Given the description of an element on the screen output the (x, y) to click on. 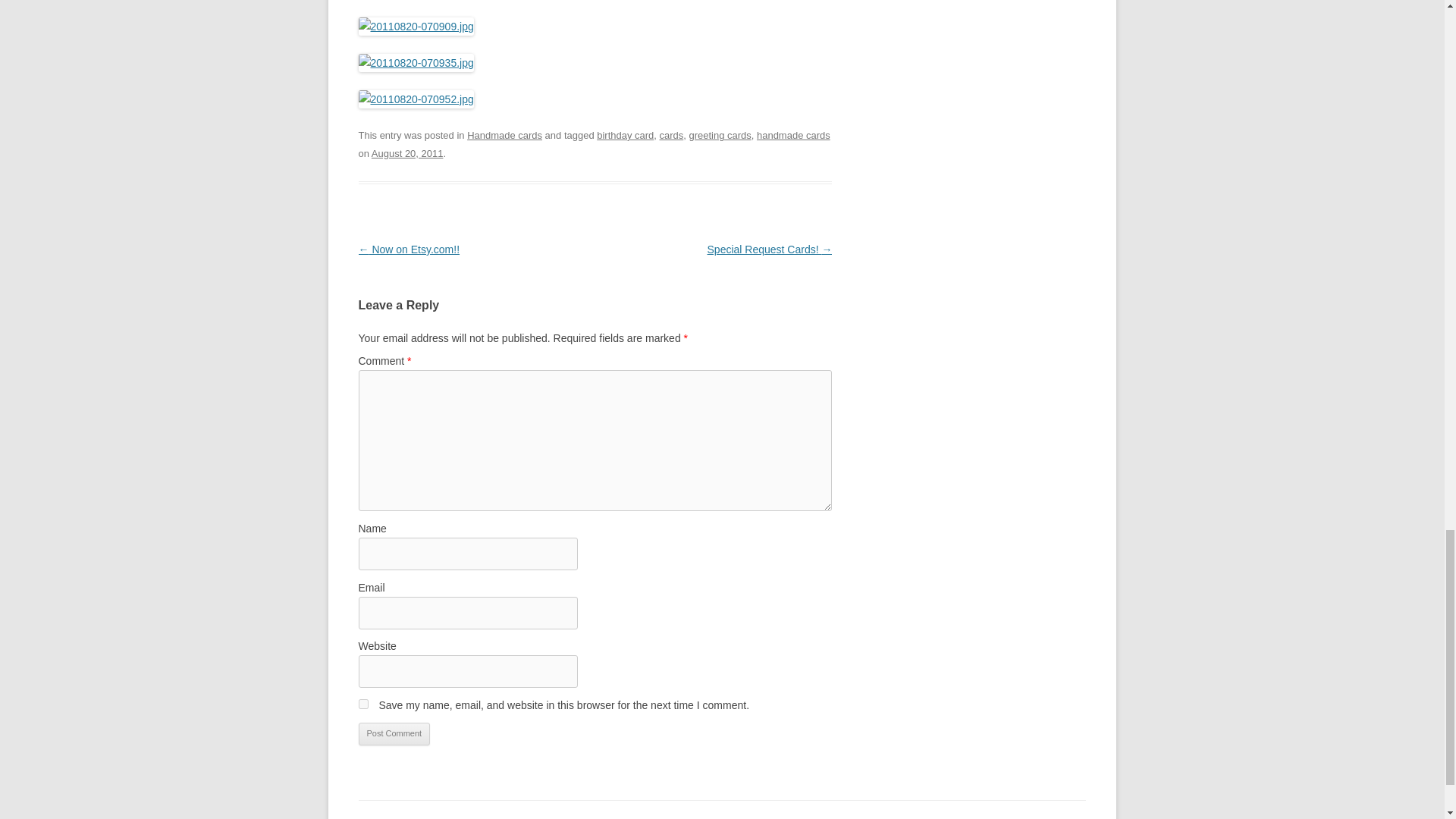
August 20, 2011 (407, 153)
greeting cards (719, 134)
yes (363, 704)
birthday card (624, 134)
Post Comment (393, 733)
Post Comment (393, 733)
handmade cards (793, 134)
cards (671, 134)
Handmade cards (504, 134)
7:13 am (407, 153)
